Given the description of an element on the screen output the (x, y) to click on. 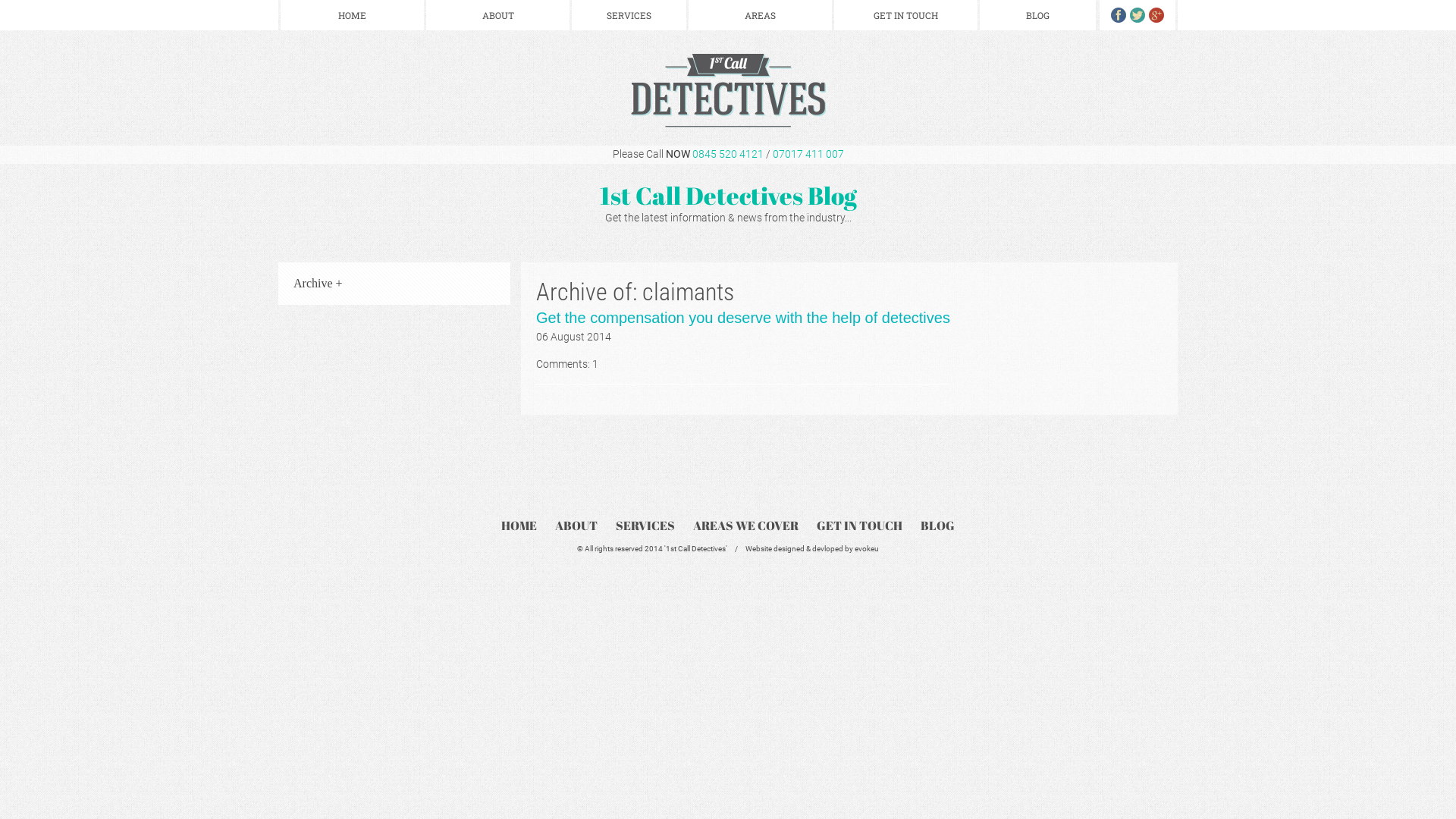
ABOUT Element type: text (497, 15)
BLOG Element type: text (1037, 15)
AREAS Element type: text (759, 15)
GET IN TOUCH Element type: text (859, 525)
SERVICES Element type: text (628, 15)
HOME Element type: text (351, 15)
SERVICES Element type: text (644, 525)
HOME Element type: text (518, 525)
evokeu Element type: text (866, 548)
BLOG Element type: text (937, 525)
AREAS WE COVER Element type: text (745, 525)
0845 520 4121 Element type: text (726, 153)
ABOUT Element type: text (576, 525)
Archive + Element type: text (317, 282)
GET IN TOUCH Element type: text (905, 15)
07017 411 007 Element type: text (807, 153)
Get the compensation you deserve with the help of detectives Element type: text (743, 317)
